Given the description of an element on the screen output the (x, y) to click on. 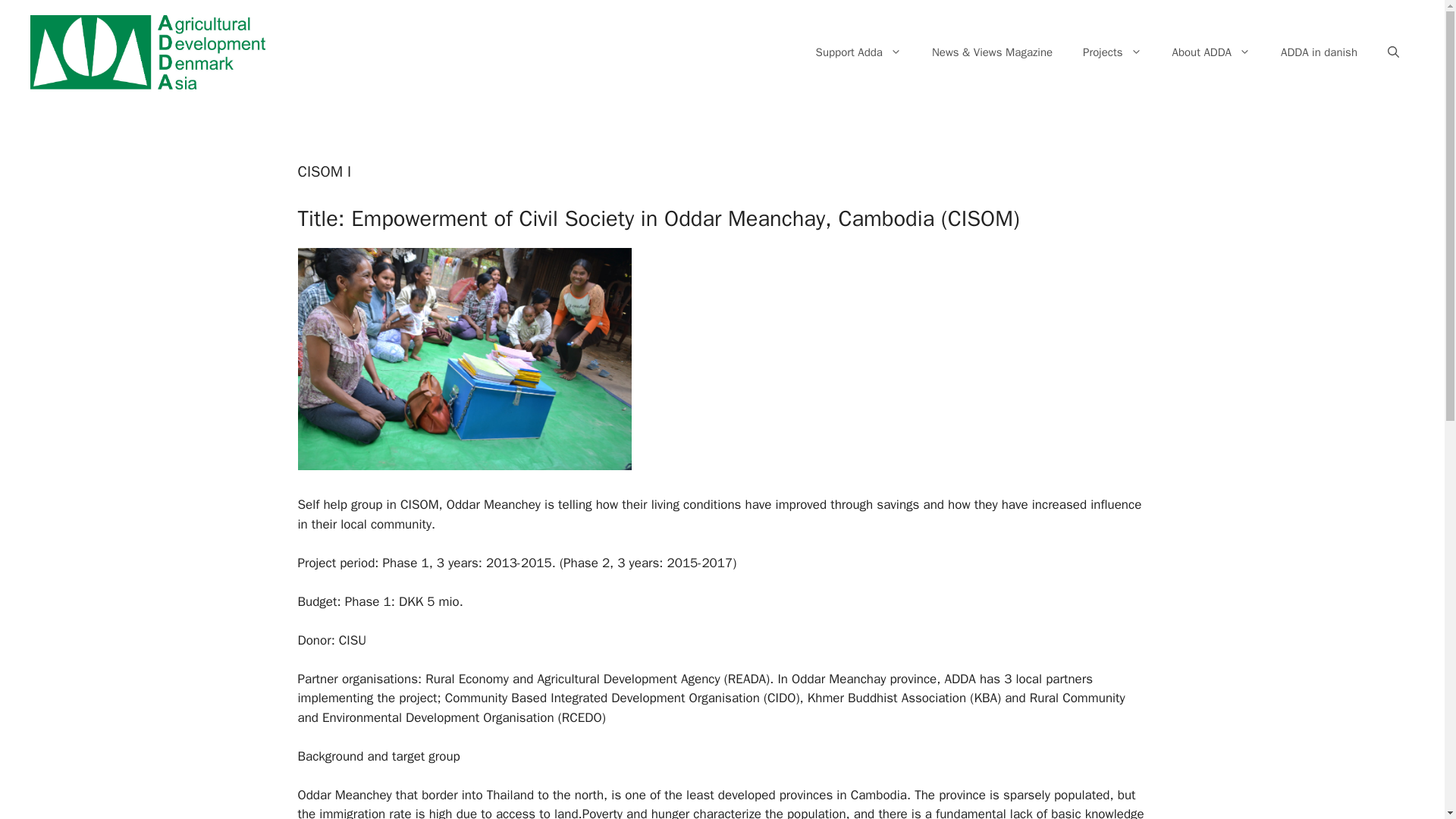
Support Adda (858, 52)
About ADDA (1211, 52)
ADDA in danish (1319, 52)
Projects (1111, 52)
